Given the description of an element on the screen output the (x, y) to click on. 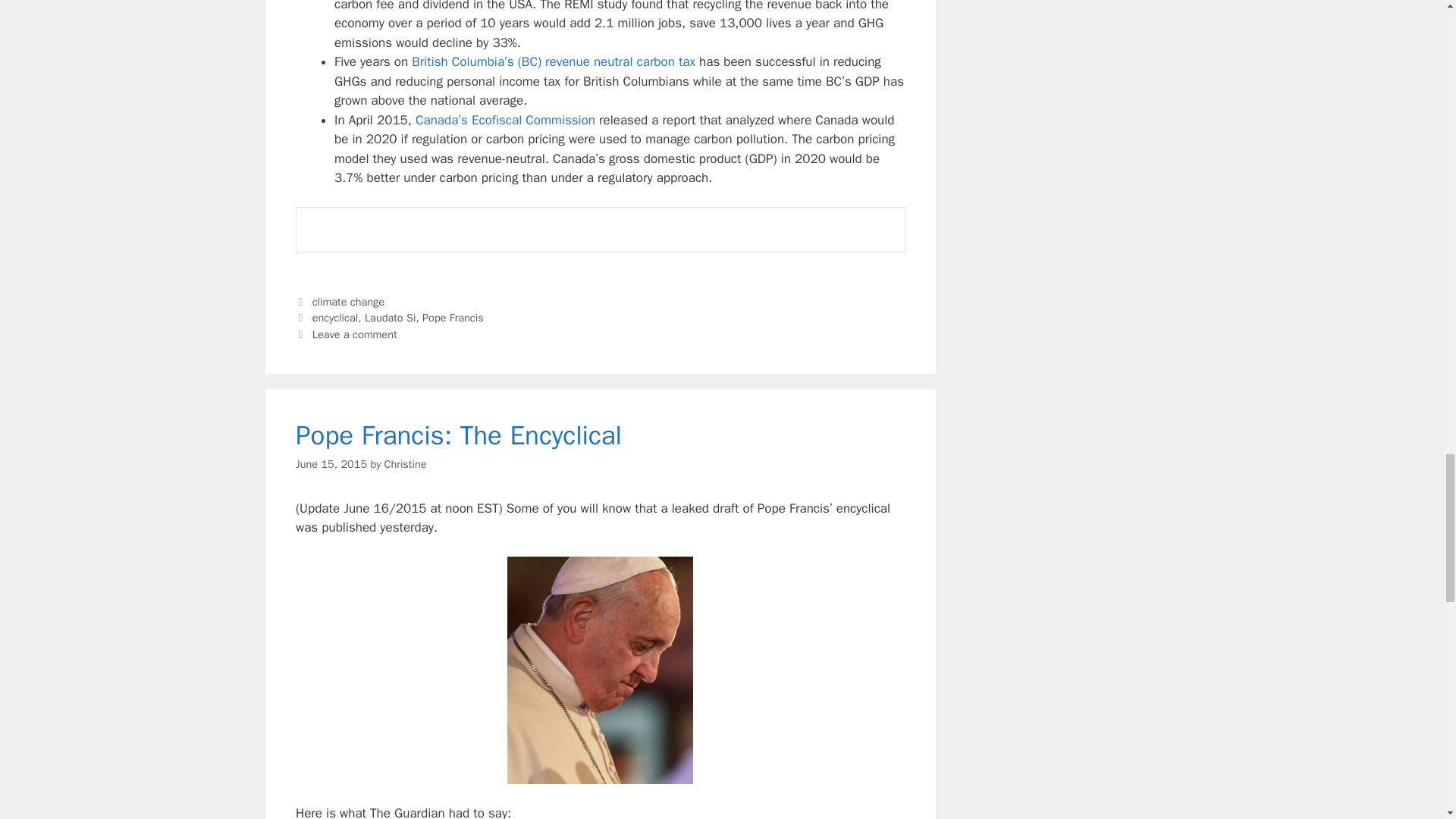
climate change (348, 301)
encyclical (335, 317)
Pope Francis: The Encyclical (458, 435)
Laudato Si (389, 317)
Leave a comment (355, 334)
View all posts by Christine (405, 463)
Pope Francis (452, 317)
Christine (405, 463)
